Given the description of an element on the screen output the (x, y) to click on. 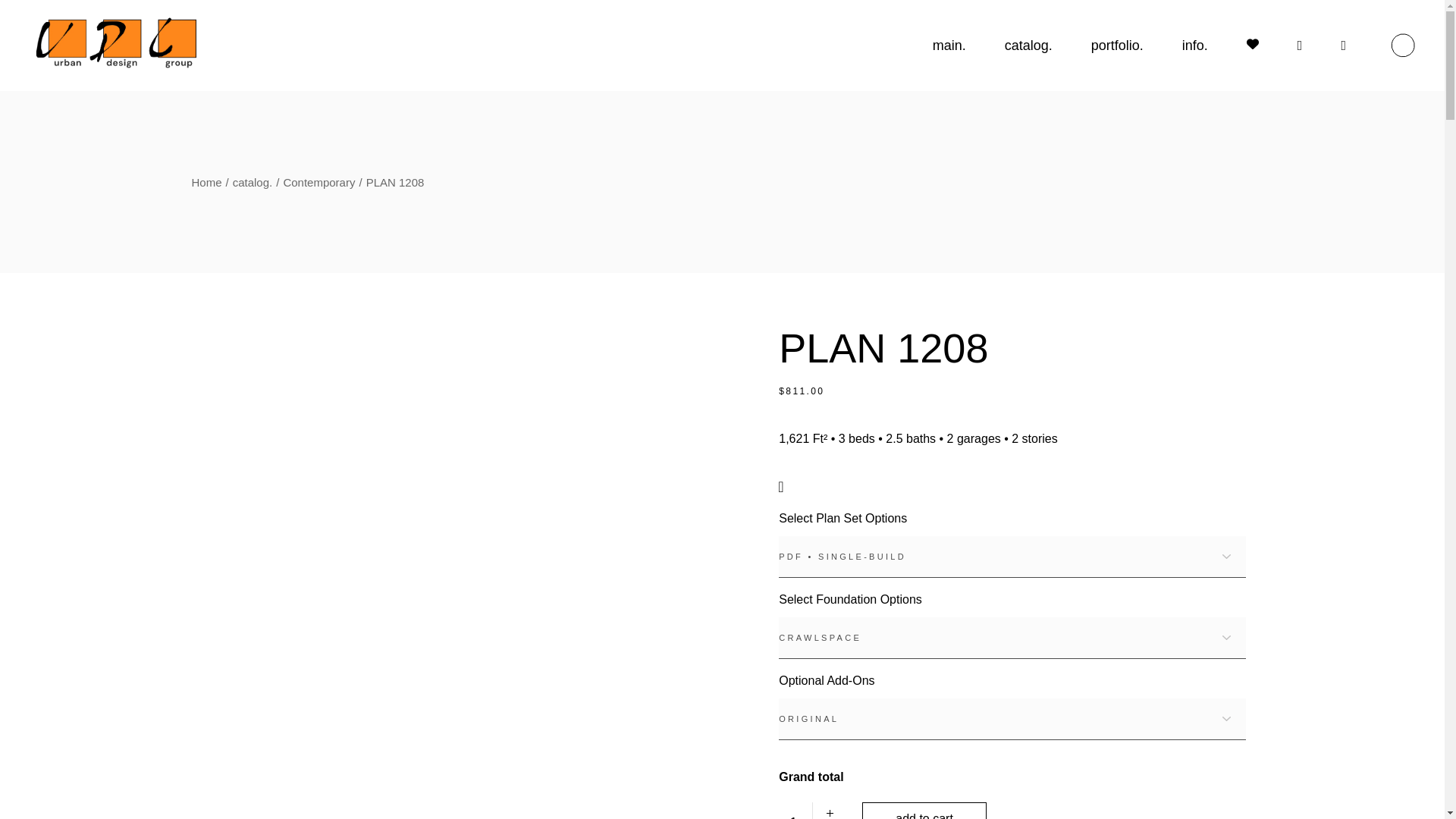
Qty (795, 810)
1 (795, 810)
Home (205, 182)
add to cart (924, 810)
catalog. (252, 182)
Contemporary (318, 182)
